Given the description of an element on the screen output the (x, y) to click on. 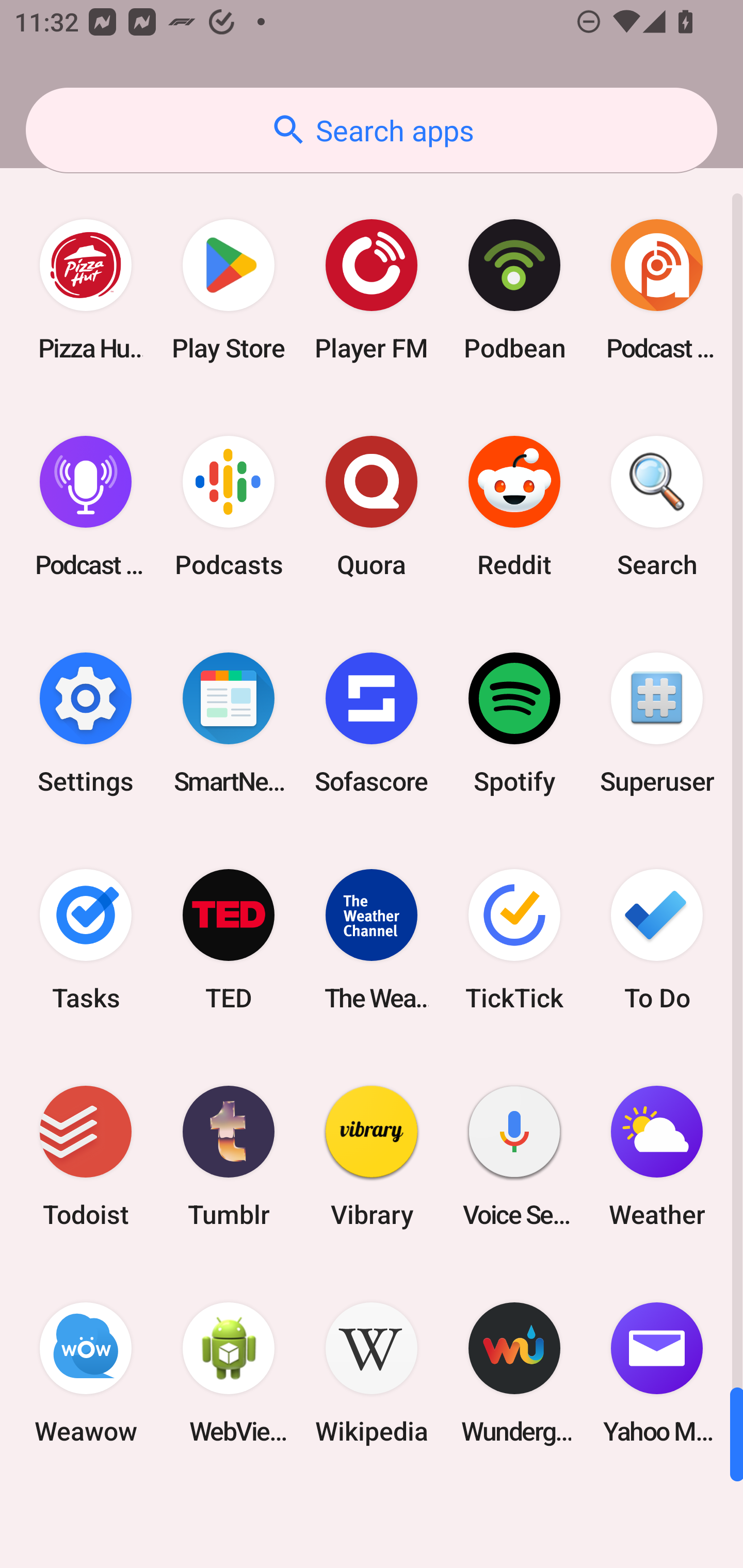
  Search apps (371, 130)
Pizza Hut HK & Macau (85, 289)
Play Store (228, 289)
Player FM (371, 289)
Podbean (514, 289)
Podcast Addict (656, 289)
Podcast Player (85, 506)
Podcasts (228, 506)
Quora (371, 506)
Reddit (514, 506)
Search (656, 506)
Settings (85, 722)
SmartNews (228, 722)
Sofascore (371, 722)
Spotify (514, 722)
Superuser (656, 722)
Tasks (85, 939)
TED (228, 939)
The Weather Channel (371, 939)
TickTick (514, 939)
To Do (656, 939)
Todoist (85, 1156)
Tumblr (228, 1156)
Vibrary (371, 1156)
Voice Search (514, 1156)
Weather (656, 1156)
Weawow (85, 1373)
WebView Browser Tester (228, 1373)
Wikipedia (371, 1373)
Wunderground (514, 1373)
Yahoo Mail (656, 1373)
